Given the description of an element on the screen output the (x, y) to click on. 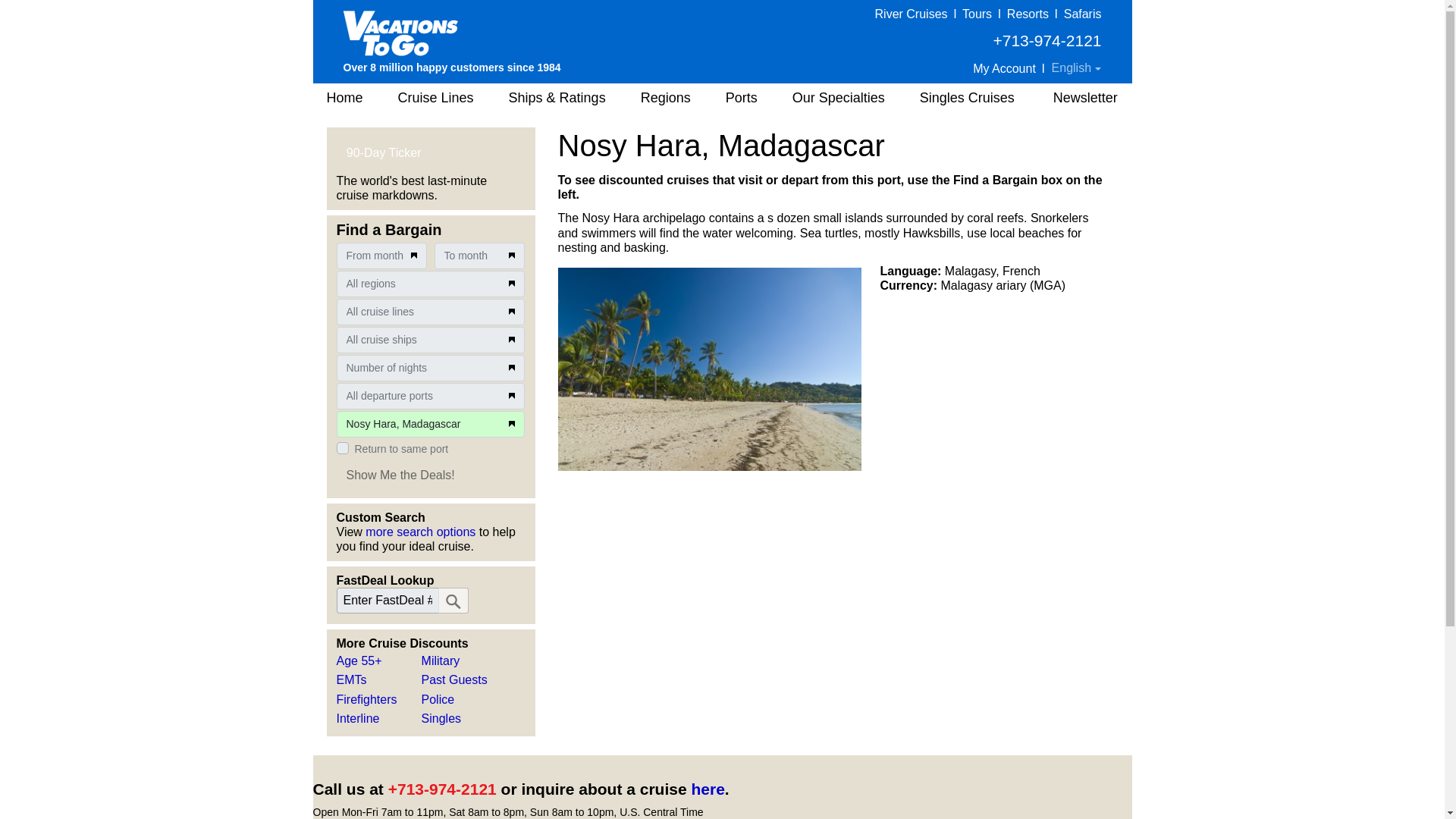
English (1076, 69)
Show Me the Deals! (400, 474)
Resorts (1027, 13)
Safaris (1083, 13)
Tours (976, 13)
My Account (1003, 68)
Home (343, 97)
River Cruises (911, 13)
Cruise Lines (435, 97)
